Given the description of an element on the screen output the (x, y) to click on. 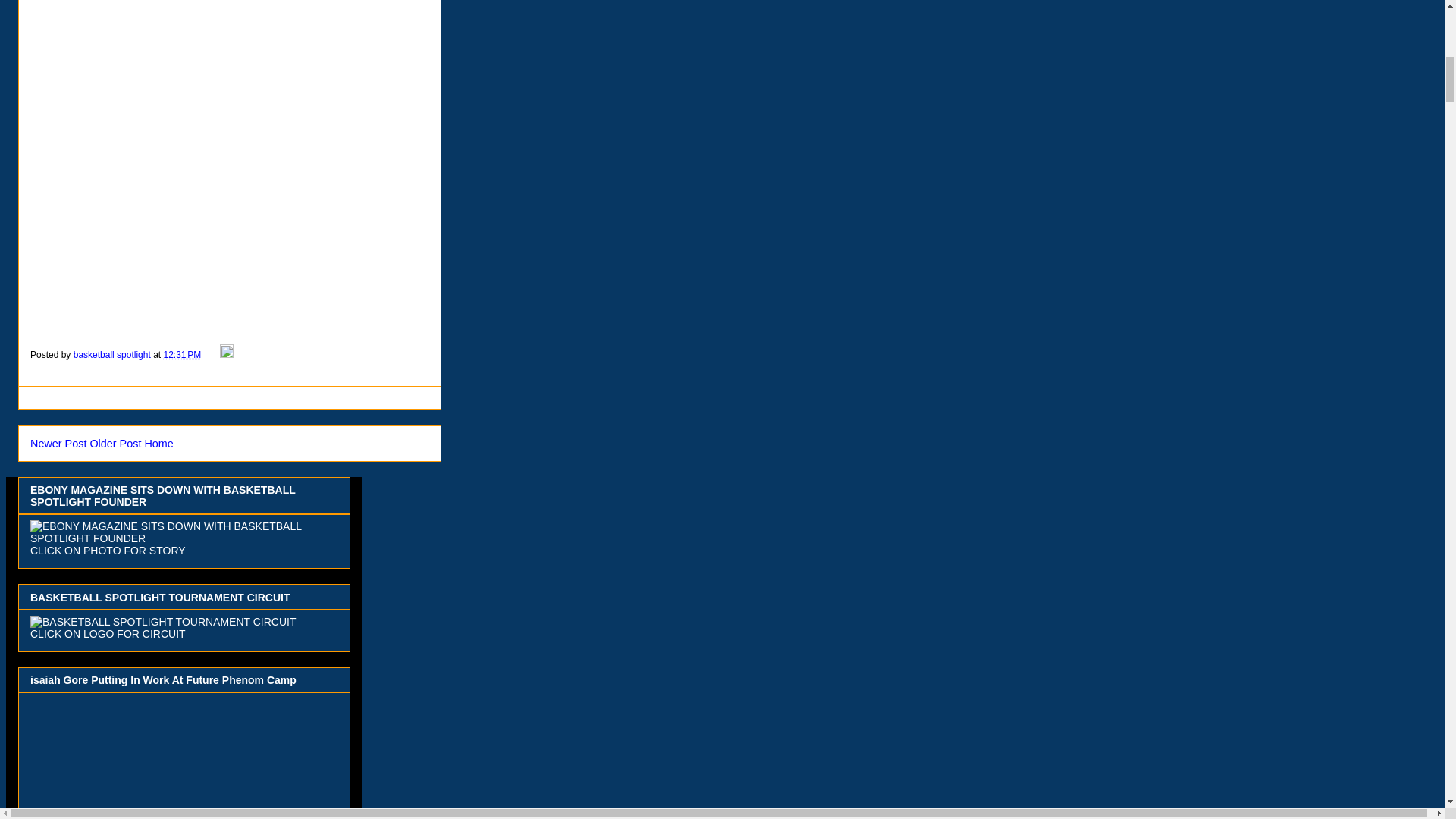
YouTube video player (187, 758)
Older Post (114, 443)
Edit Post (225, 354)
Newer Post (57, 443)
Home (158, 443)
basketball spotlight (113, 354)
Older Post (114, 443)
author profile (113, 354)
Email Post (211, 354)
Newer Post (57, 443)
permanent link (181, 354)
